Given the description of an element on the screen output the (x, y) to click on. 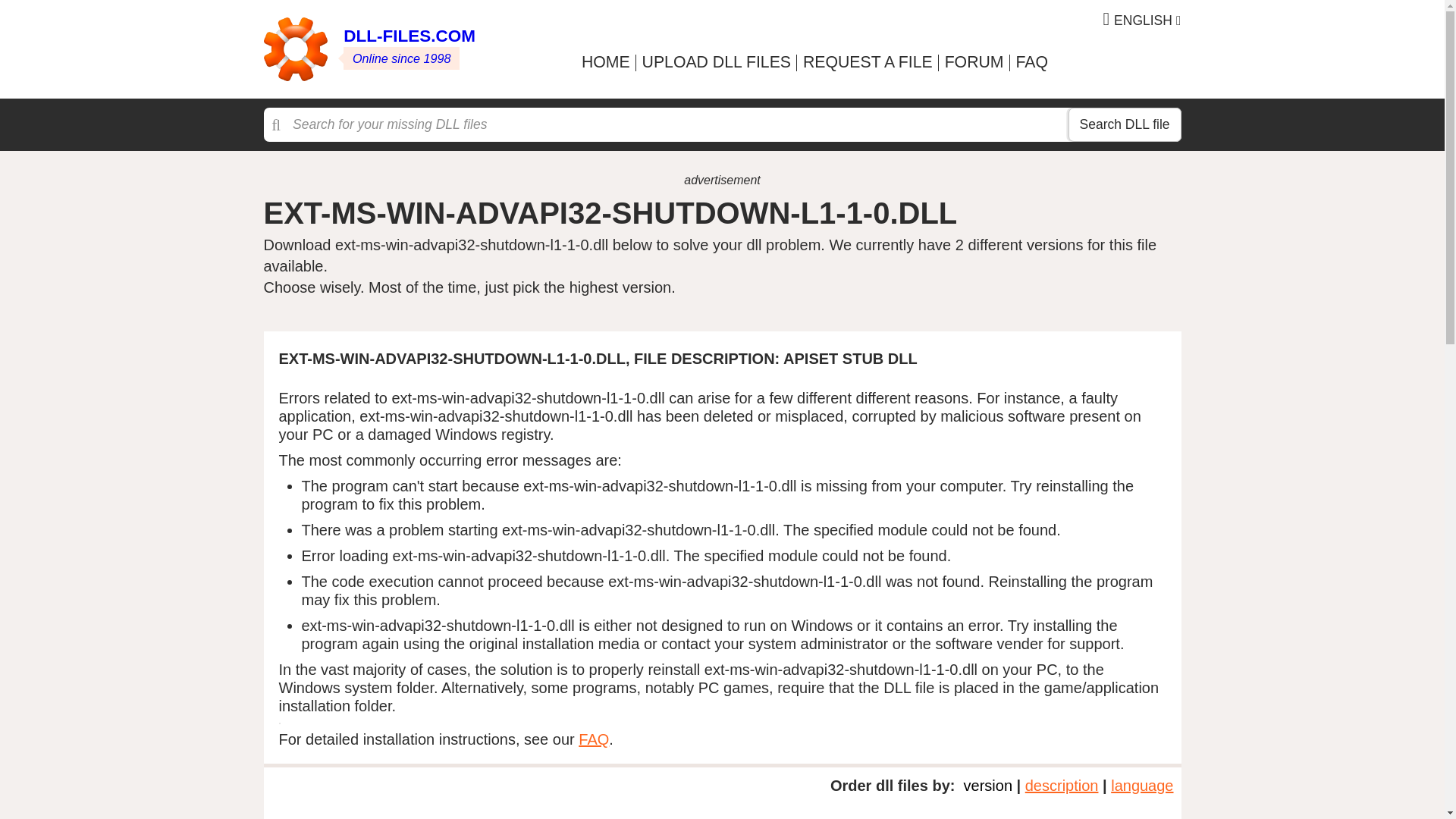
description (1062, 785)
REQUEST A FILE (868, 62)
HOME (605, 62)
FAQ (1031, 62)
Search DLL file (1123, 124)
UPLOAD DLL FILES (716, 62)
FAQ (593, 739)
version (987, 785)
FORUM (974, 62)
ENGLISH (1141, 19)
